Given the description of an element on the screen output the (x, y) to click on. 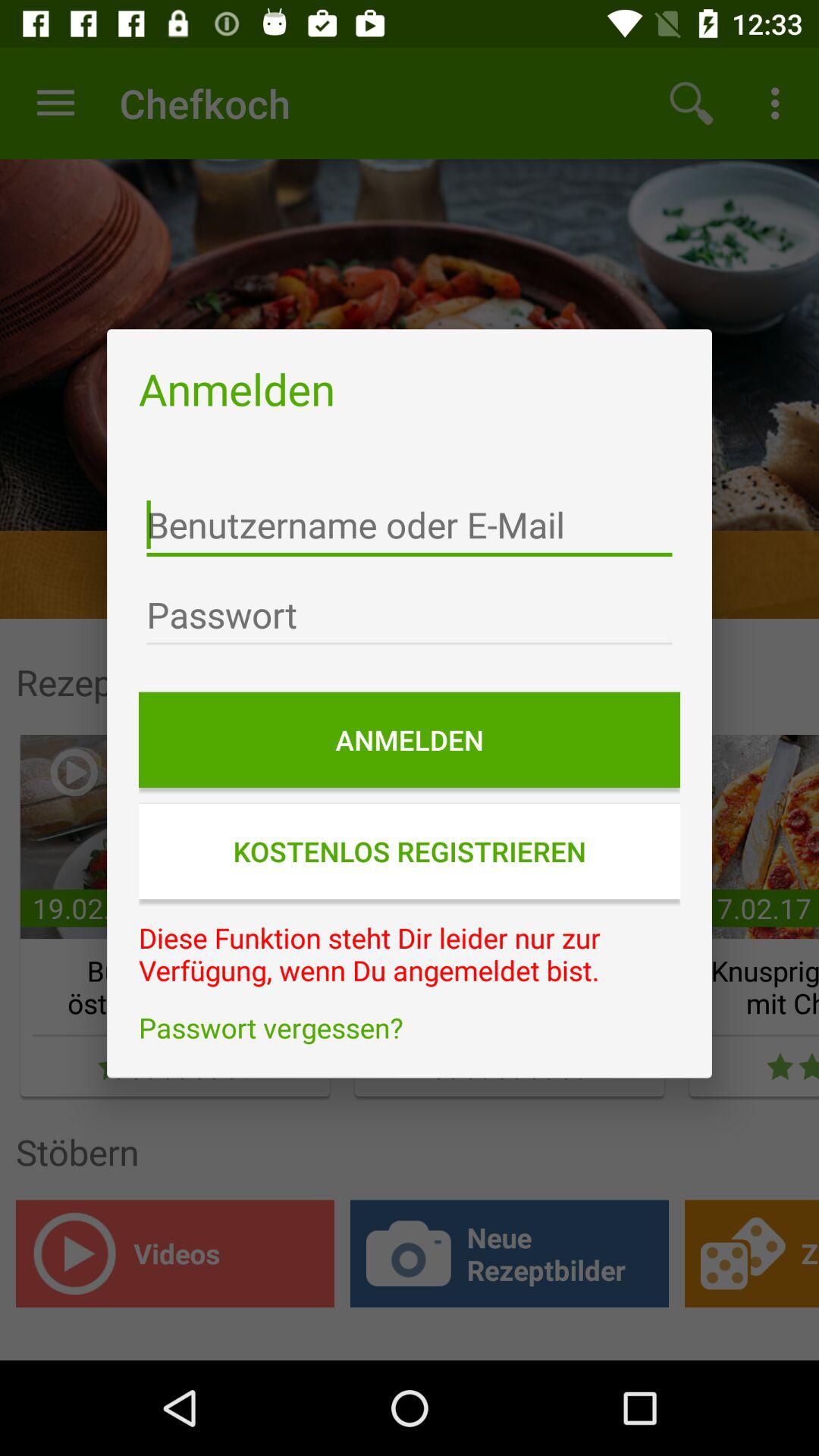
swipe until the kostenlos registrieren (409, 851)
